Given the description of an element on the screen output the (x, y) to click on. 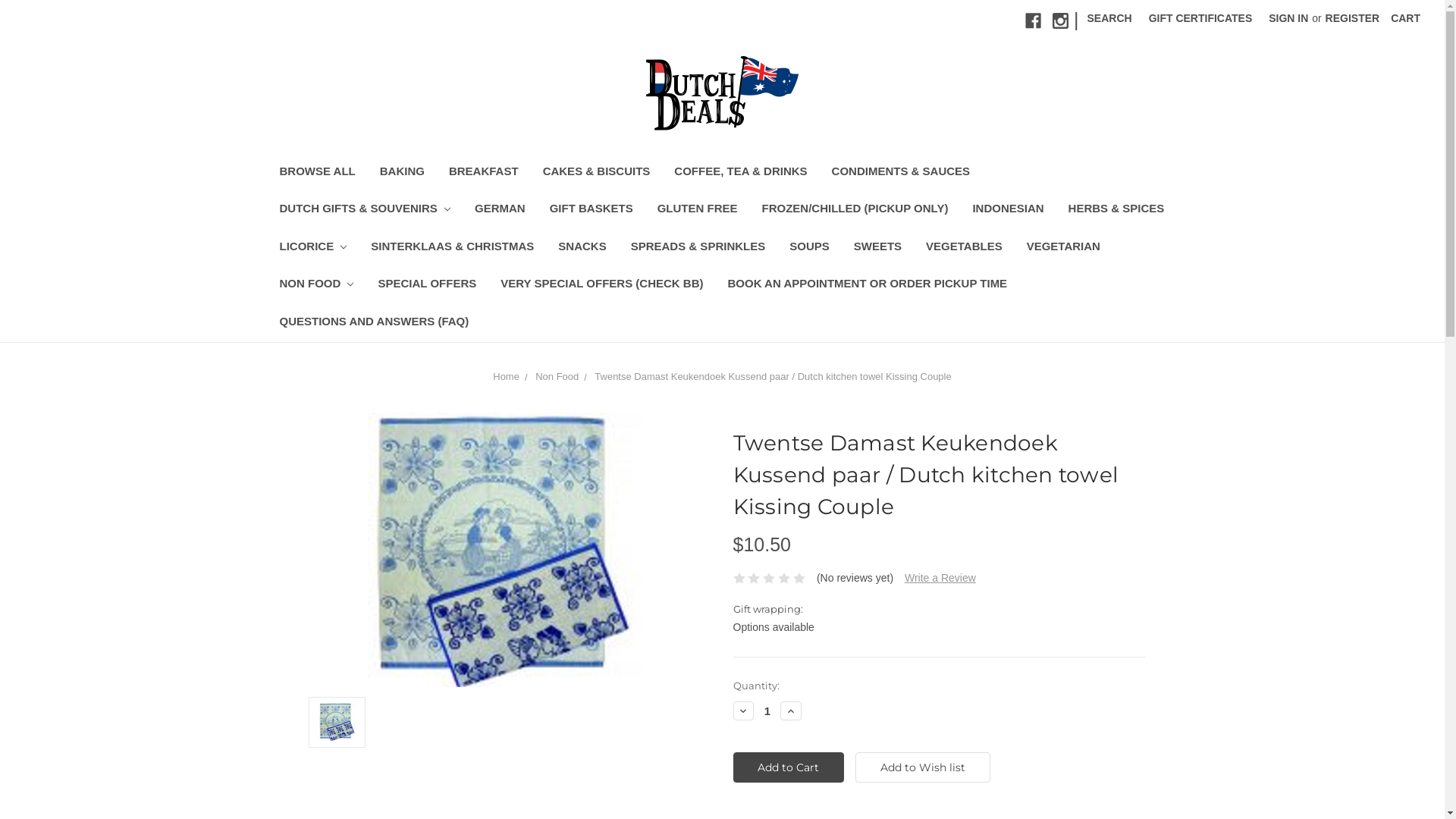
Add to Cart Element type: text (788, 767)
DUTCH GIFTS & SOUVENIRS Element type: text (364, 210)
SPREADS & SPRINKLES Element type: text (698, 247)
CAKES & BISCUITS Element type: text (596, 172)
VEGETARIAN Element type: text (1063, 247)
GIFT BASKETS Element type: text (591, 210)
VERY SPECIAL OFFERS (CHECK BB) Element type: text (601, 285)
Write a Review Element type: text (939, 577)
COFFEE, TEA & DRINKS Element type: text (740, 172)
NON FOOD Element type: text (315, 285)
SOUPS Element type: text (809, 247)
BOOK AN APPOINTMENT OR ORDER PICKUP TIME Element type: text (867, 285)
FROZEN/CHILLED (PICKUP ONLY) Element type: text (854, 210)
VEGETABLES Element type: text (963, 247)
Non Food Element type: text (556, 376)
SWEETS Element type: text (877, 247)
INDONESIAN Element type: text (1007, 210)
BROWSE ALL Element type: text (316, 172)
CONDIMENTS & SAUCES Element type: text (900, 172)
SPECIAL OFFERS Element type: text (426, 285)
Increase Quantity: Element type: text (790, 710)
GLUTEN FREE Element type: text (697, 210)
SINTERKLAAS & CHRISTMAS Element type: text (452, 247)
Dutch Deals Element type: hover (722, 93)
GERMAN Element type: text (499, 210)
Add to Wish list Element type: text (922, 767)
SNACKS Element type: text (582, 247)
LICORICE Element type: text (312, 247)
Home Element type: text (505, 376)
BAKING Element type: text (401, 172)
SEARCH Element type: text (1109, 18)
CART Element type: text (1405, 18)
QUESTIONS AND ANSWERS (FAQ) Element type: text (373, 323)
Decrease Quantity: Element type: text (742, 710)
GIFT CERTIFICATES Element type: text (1200, 18)
HERBS & SPICES Element type: text (1116, 210)
BREAKFAST Element type: text (483, 172)
SIGN IN Element type: text (1288, 18)
REGISTER Element type: text (1352, 18)
